Given the description of an element on the screen output the (x, y) to click on. 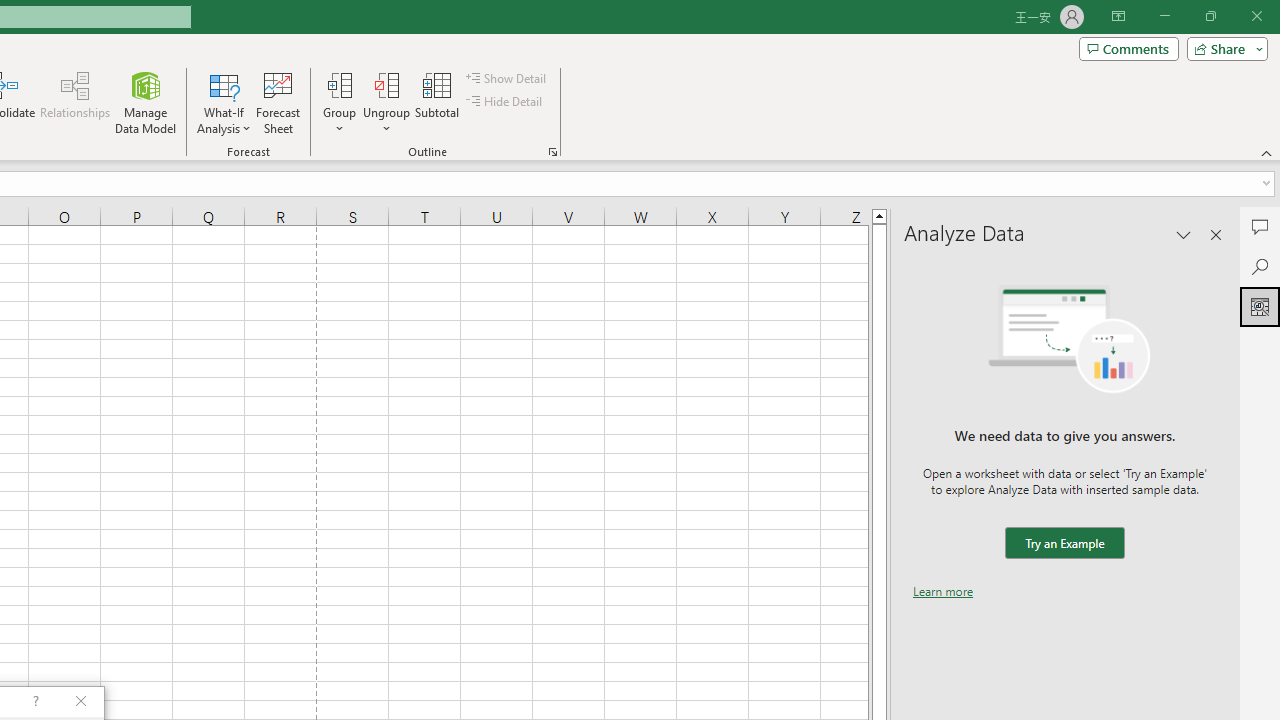
We need data to give you answers. Try an Example (1064, 543)
Search (1260, 266)
What-If Analysis (223, 102)
Restore Down (1210, 16)
Ungroup... (386, 102)
Group and Outline Settings (552, 151)
Collapse the Ribbon (1267, 152)
Minimize (1164, 16)
Learn more (943, 591)
Group... (339, 102)
Manage Data Model (145, 102)
More Options (386, 121)
Show Detail (507, 78)
Forecast Sheet (278, 102)
Relationships (75, 102)
